Given the description of an element on the screen output the (x, y) to click on. 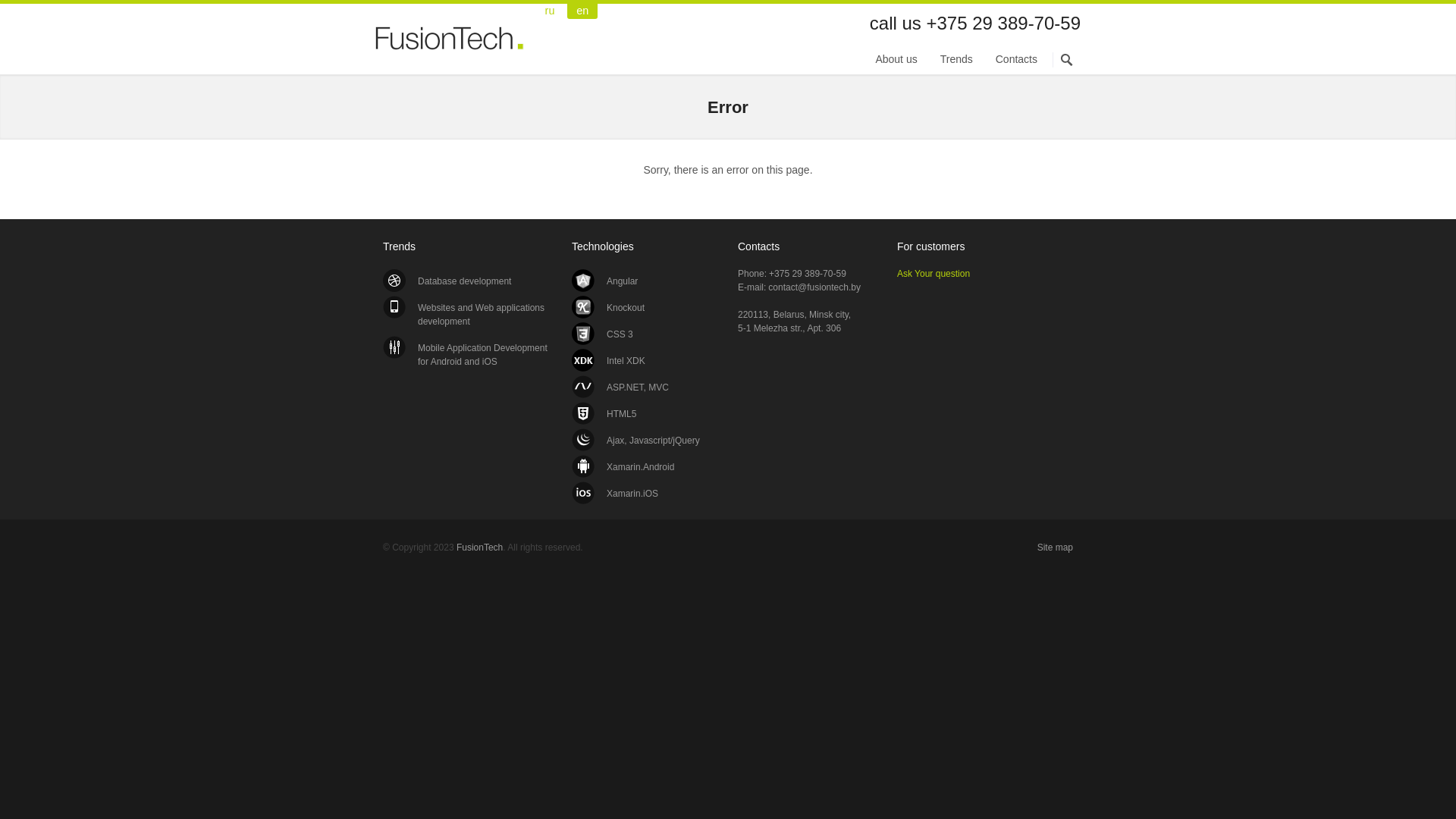
Websites and Web applications development Element type: text (464, 314)
call us +375 29 389-70-59 Element type: text (974, 22)
Intel XDK Element type: text (608, 360)
CSS 3 Element type: text (602, 334)
Ask Your question Element type: text (933, 273)
Contacts Element type: text (1016, 64)
contact@fusiontech.by Element type: text (814, 287)
Xamarin.iOS Element type: text (614, 493)
Angular Element type: text (604, 281)
About us Element type: text (895, 64)
Mobile Application Development for Android and iOS Element type: text (464, 354)
ASP.NET, MVC Element type: text (619, 387)
Site map Element type: text (1055, 547)
Ajax, Javascript/jQuery Element type: text (635, 440)
en Element type: text (582, 10)
ru Element type: text (549, 10)
Knockout Element type: text (607, 307)
FusionTech Element type: text (479, 547)
Database development Element type: text (446, 281)
Xamarin.Android Element type: text (622, 467)
Trends Element type: text (956, 64)
HTML5 Element type: text (603, 413)
FusionTech Element type: text (451, 47)
English version Element type: hover (582, 10)
